Given the description of an element on the screen output the (x, y) to click on. 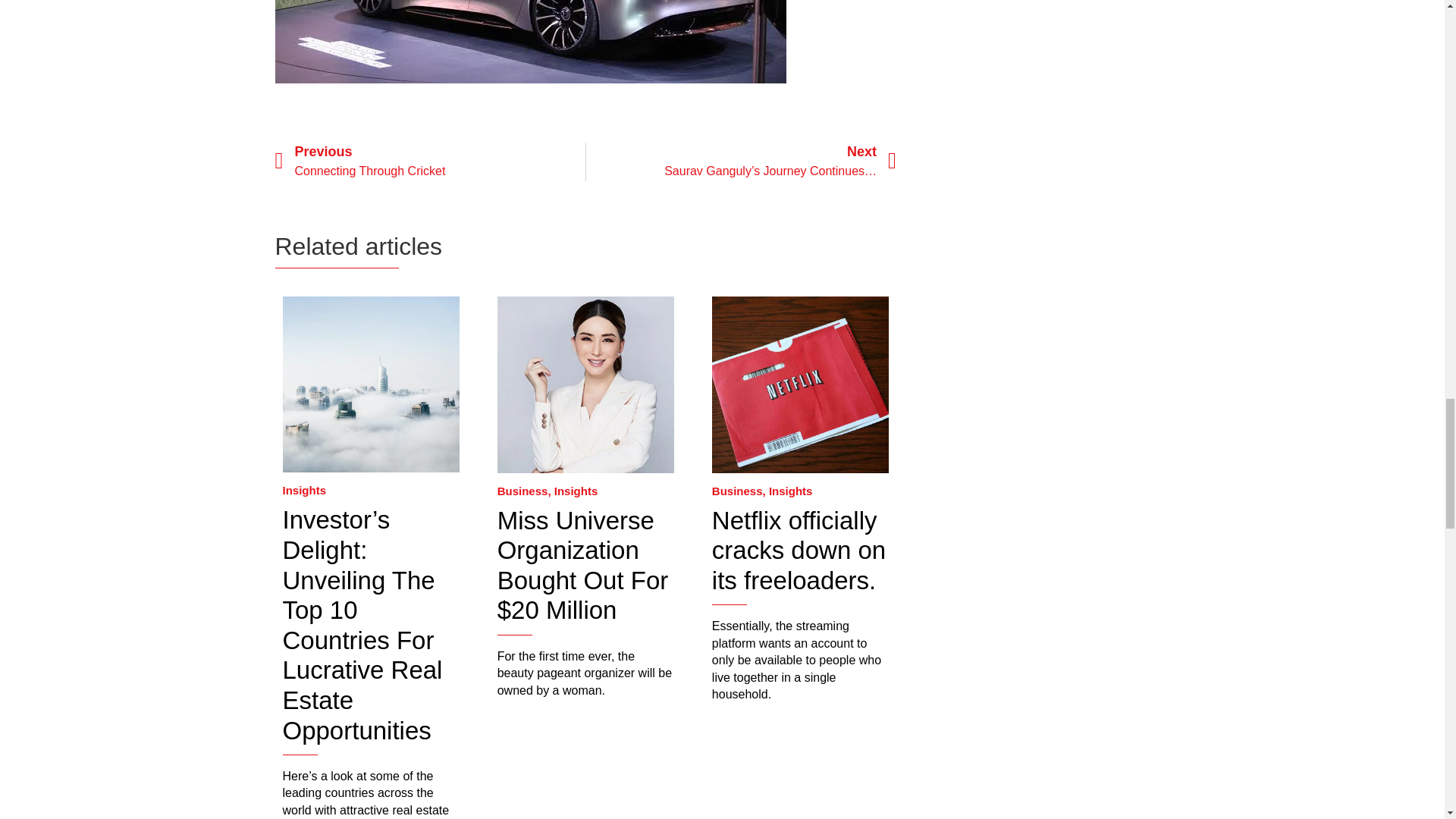
Insights (790, 490)
Business (522, 490)
Insights (576, 490)
Insights (304, 490)
Business (736, 490)
Netflix officially cracks down on its freeloaders. (798, 550)
